Given the description of an element on the screen output the (x, y) to click on. 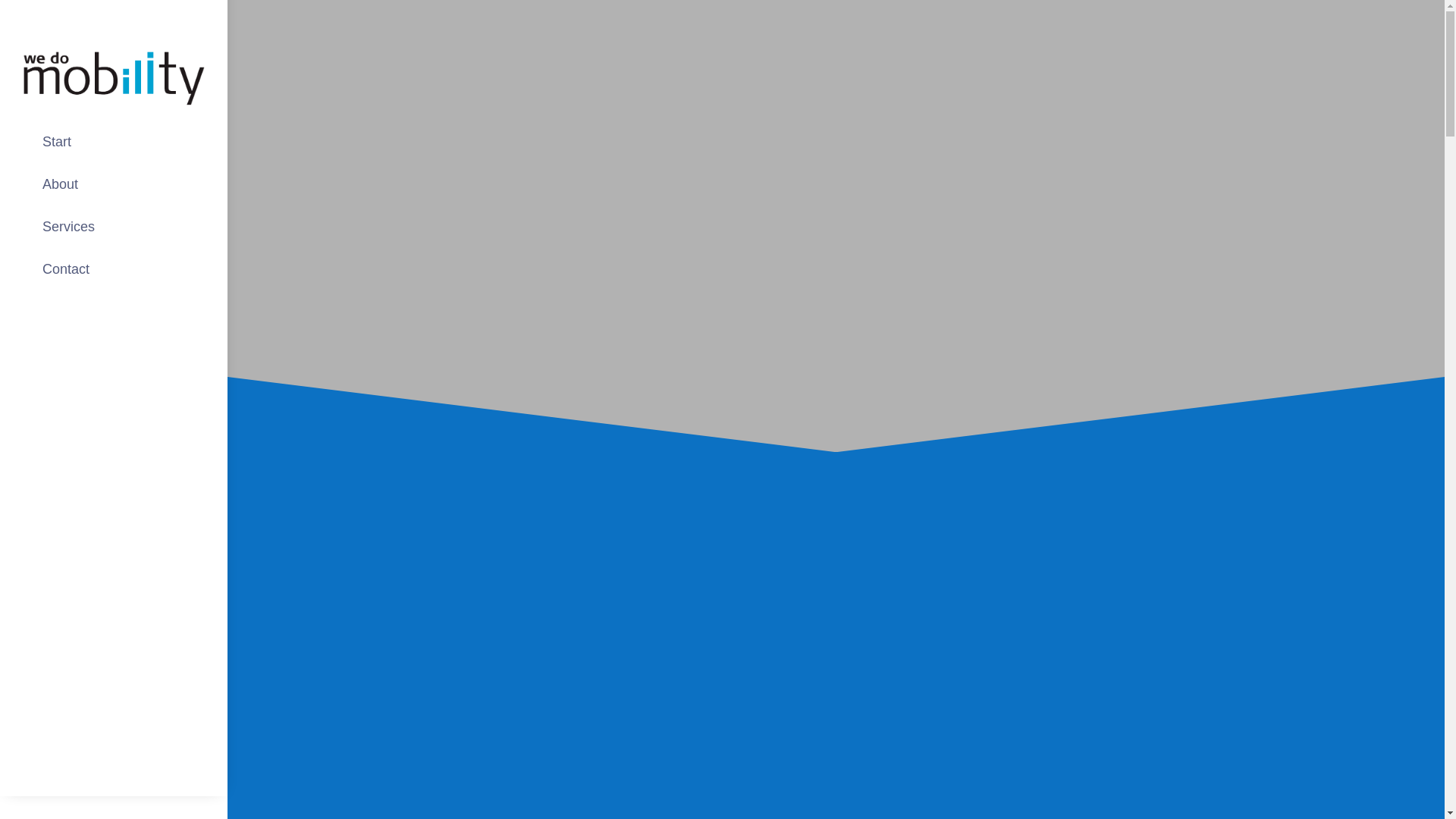
Services (113, 226)
Contact (113, 268)
Start (113, 141)
About (113, 184)
